Given the description of an element on the screen output the (x, y) to click on. 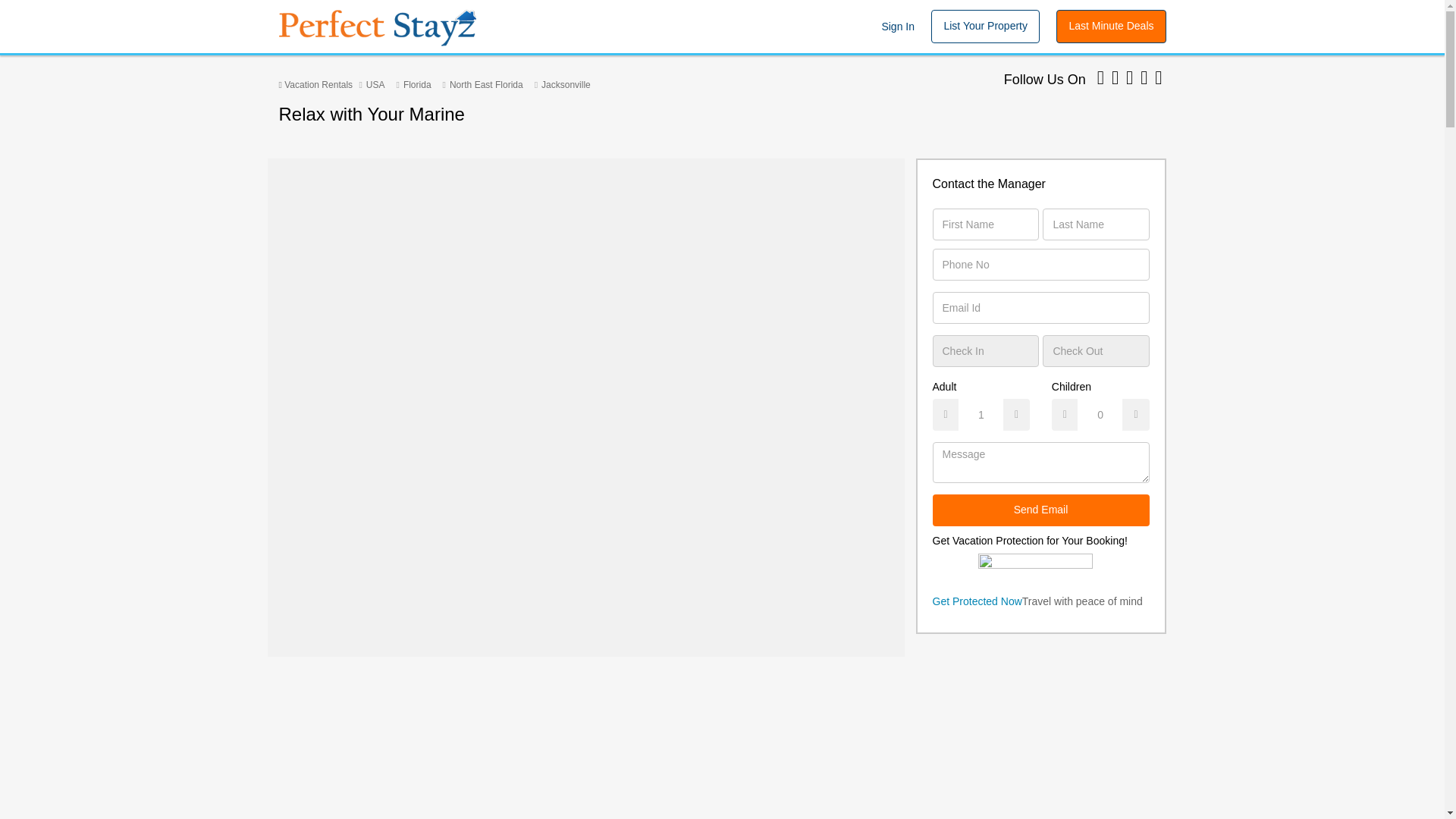
North East Florida (485, 84)
Jacksonville (566, 84)
USA (375, 84)
Last Minute Deals (1111, 26)
Florida (416, 84)
List Your Property (985, 26)
0 (1099, 414)
1 (981, 414)
Vacation Rentals (316, 84)
